Given the description of an element on the screen output the (x, y) to click on. 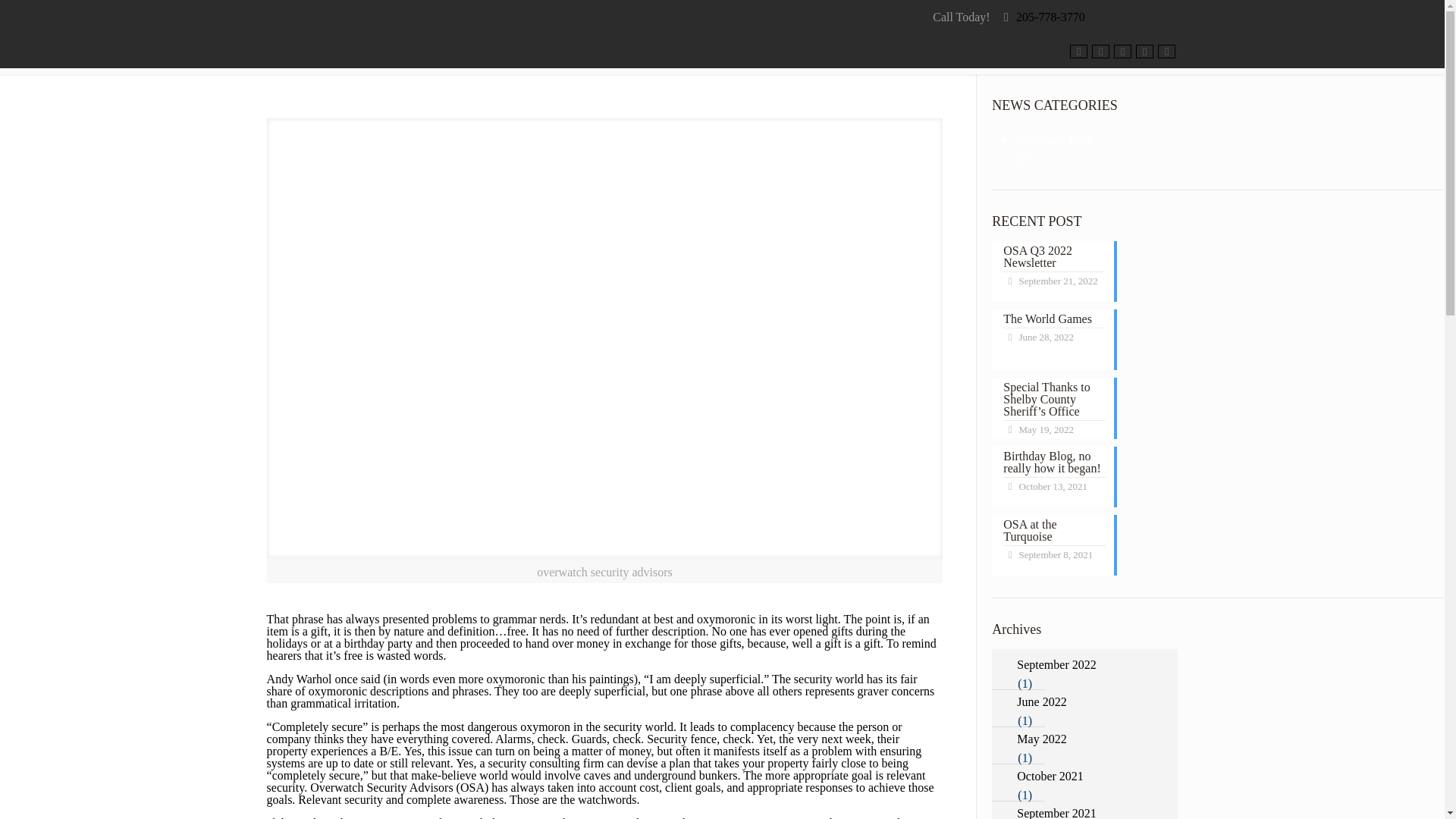
LinkedIn (1122, 51)
205-778-3770 (1050, 16)
Twitter (1100, 51)
Instagram (1144, 51)
Facebook (1078, 51)
